Given the description of an element on the screen output the (x, y) to click on. 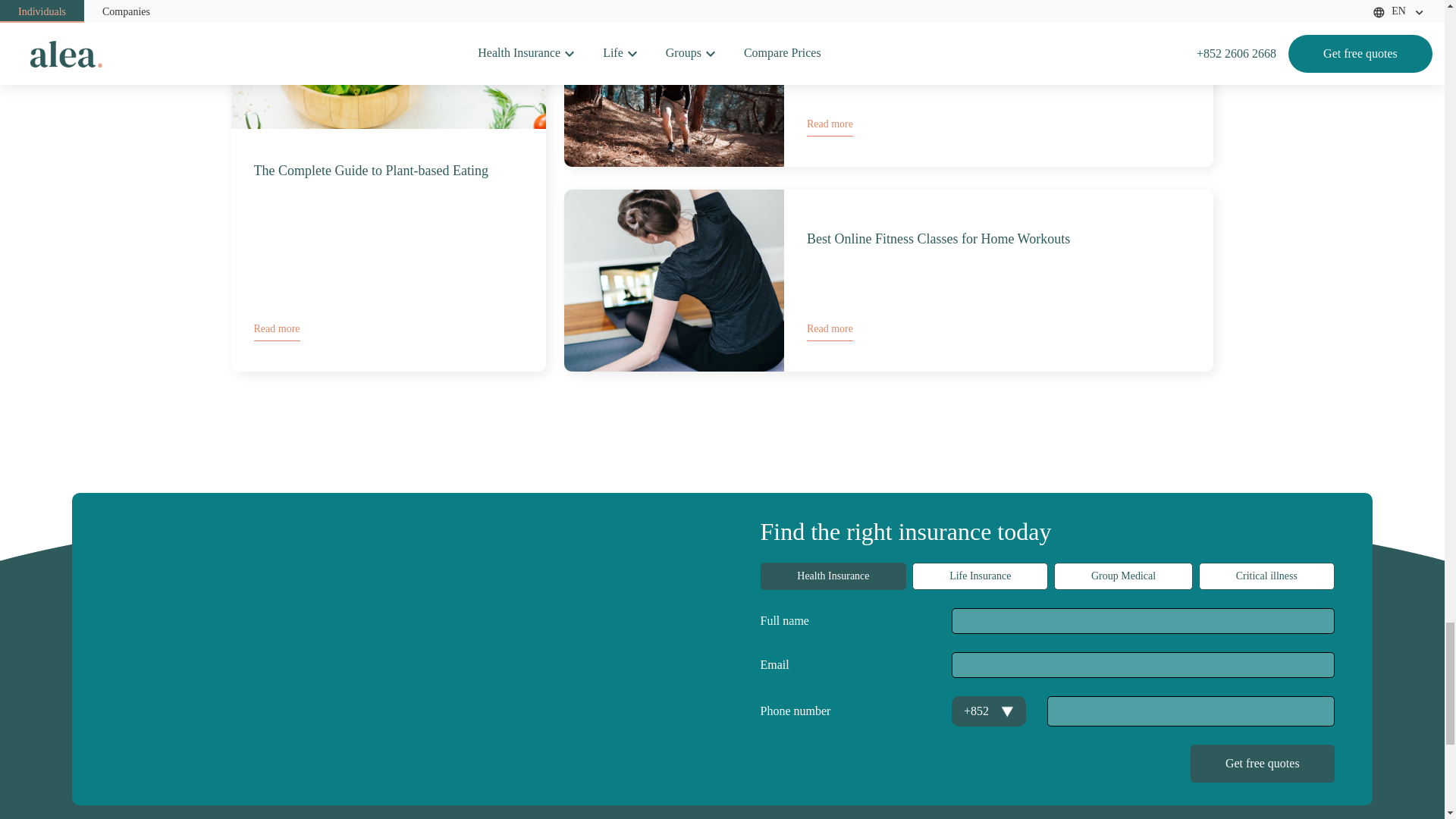
Read more (276, 328)
